Given the description of an element on the screen output the (x, y) to click on. 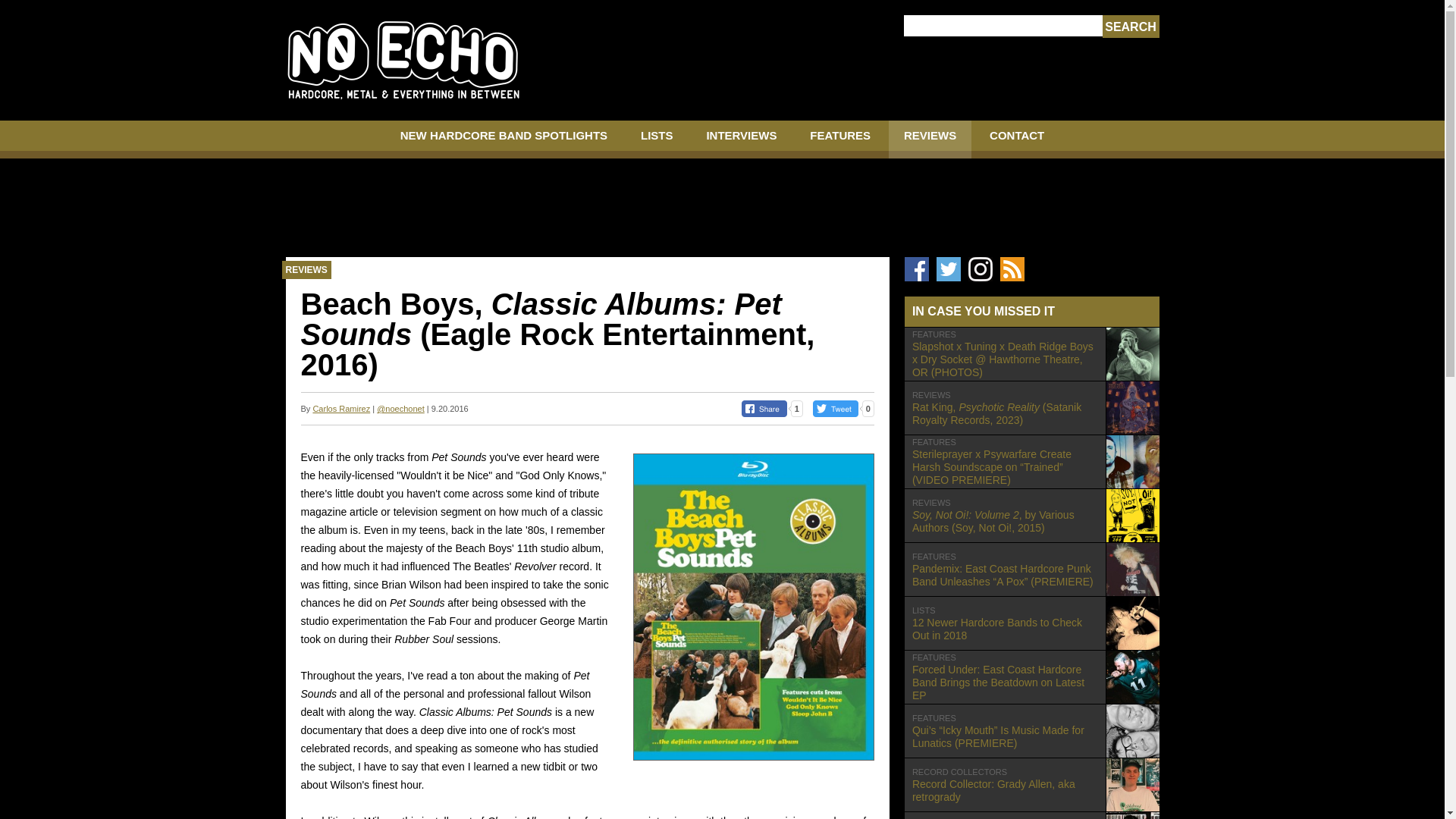
FEATURES (839, 139)
CONTACT (1031, 623)
Search (1016, 139)
LISTS (1130, 26)
Carlos Ramirez (657, 139)
NEW HARDCORE BAND SPOTLIGHTS (341, 408)
REVIEWS (504, 139)
Search (929, 139)
INTERVIEWS (1130, 26)
